Given the description of an element on the screen output the (x, y) to click on. 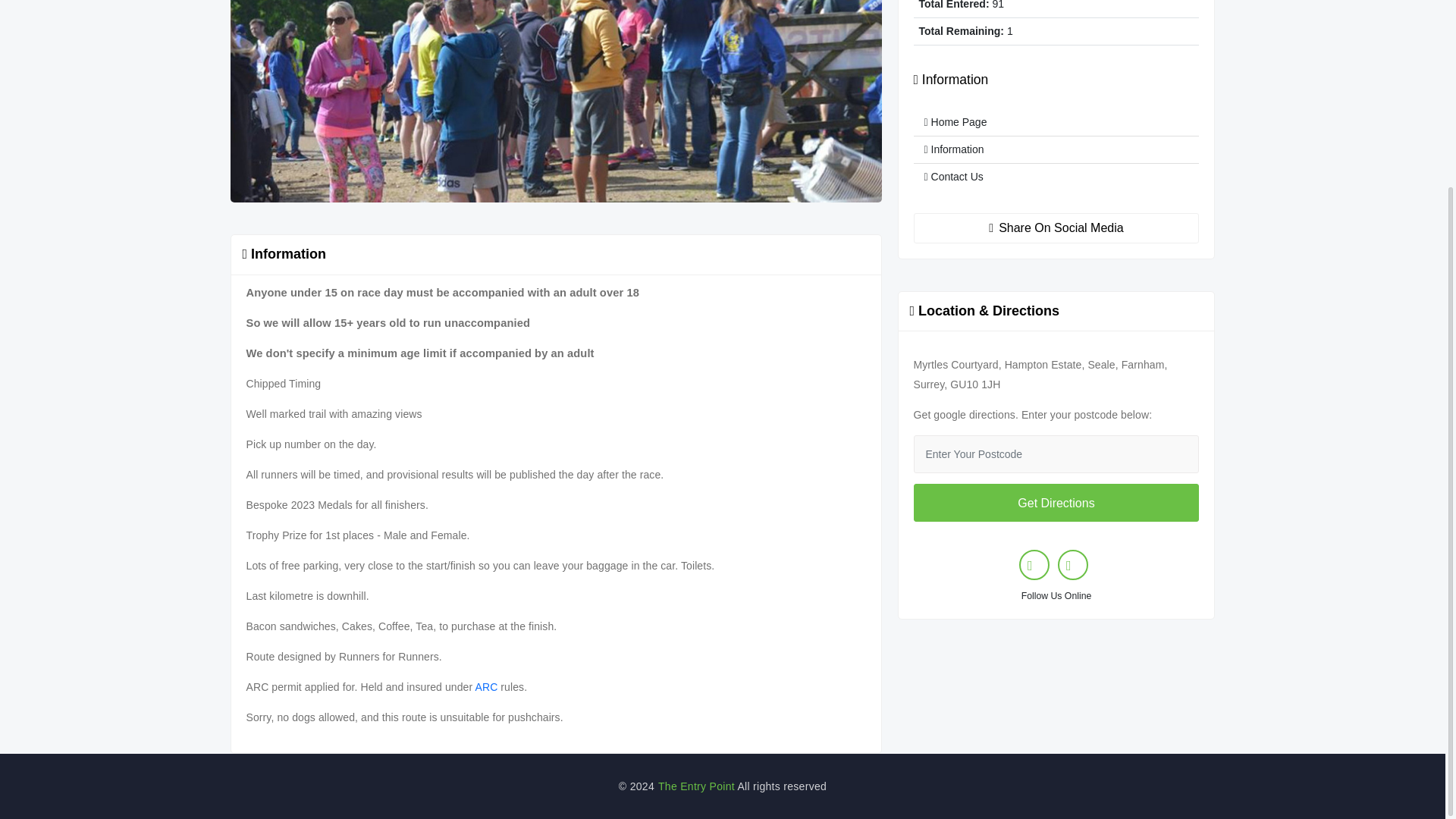
Contact Us (1055, 176)
Home Page (1055, 122)
ARC (485, 686)
Get Directions (1055, 502)
Information (1055, 149)
Get Directions (1055, 502)
The Entry Point (696, 786)
Share On Social Media (1055, 227)
